Given the description of an element on the screen output the (x, y) to click on. 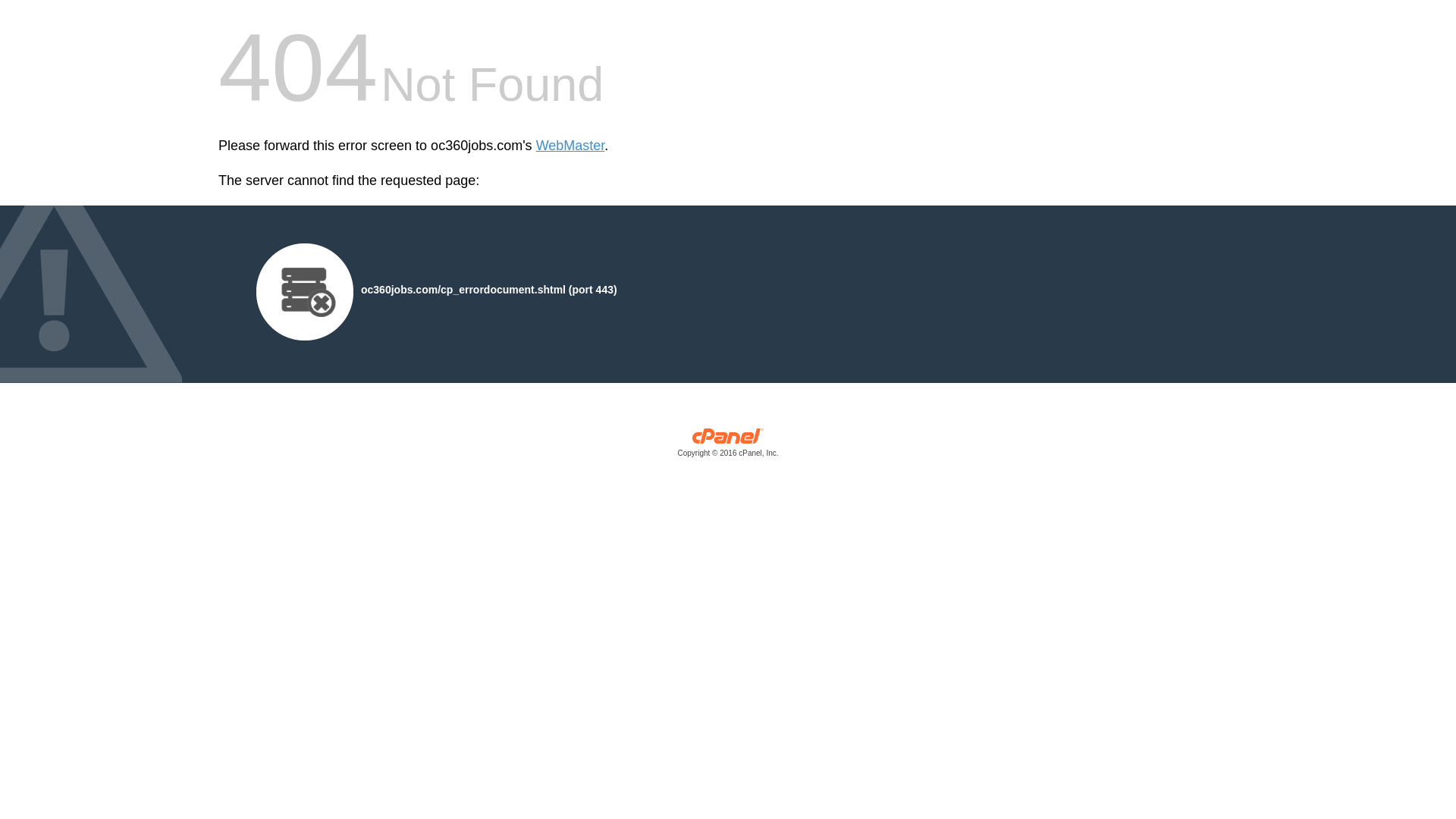
cPanel, Inc. (727, 446)
WebMaster (570, 145)
